Given the description of an element on the screen output the (x, y) to click on. 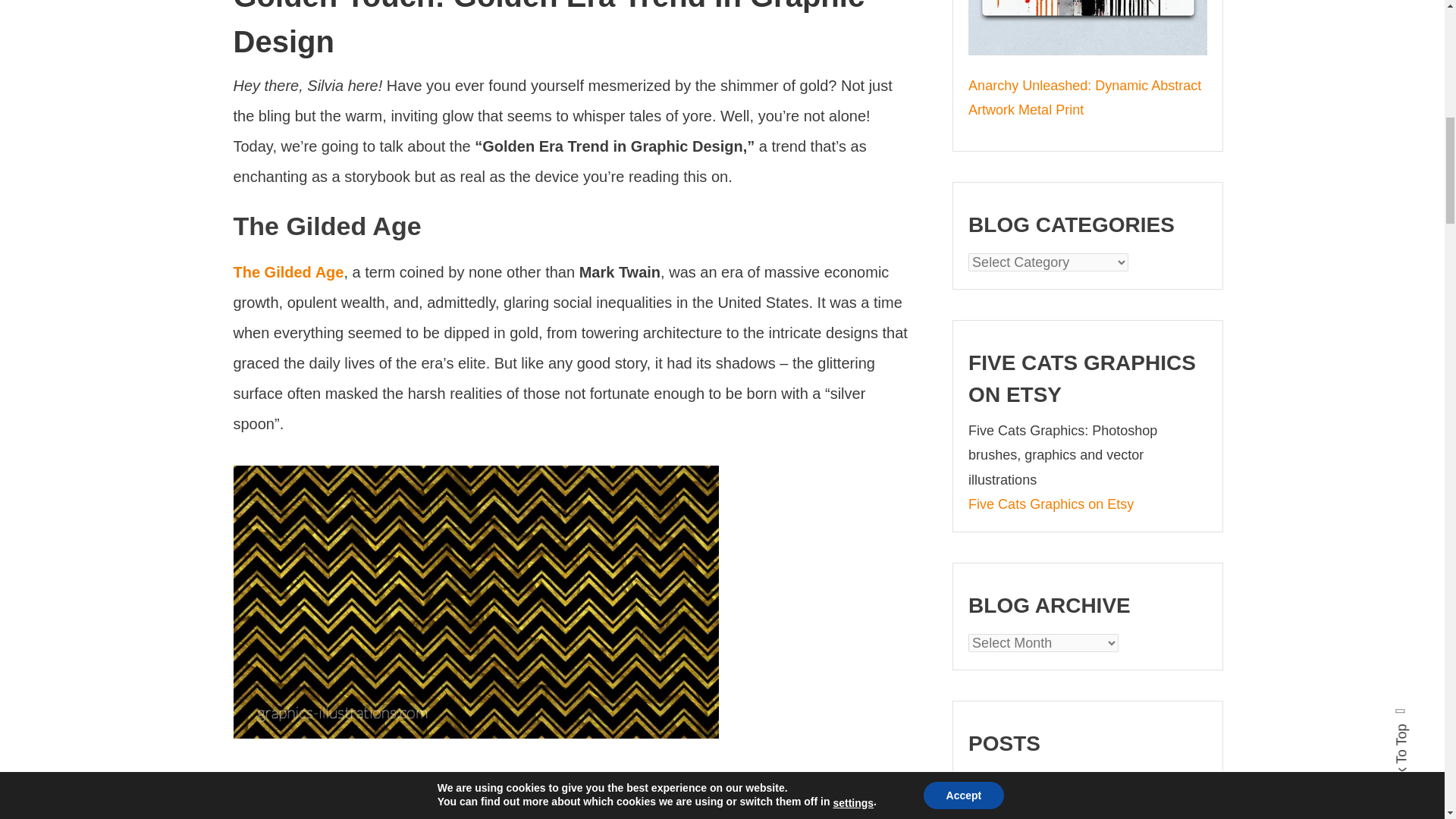
The Gilded Age (287, 271)
